Given the description of an element on the screen output the (x, y) to click on. 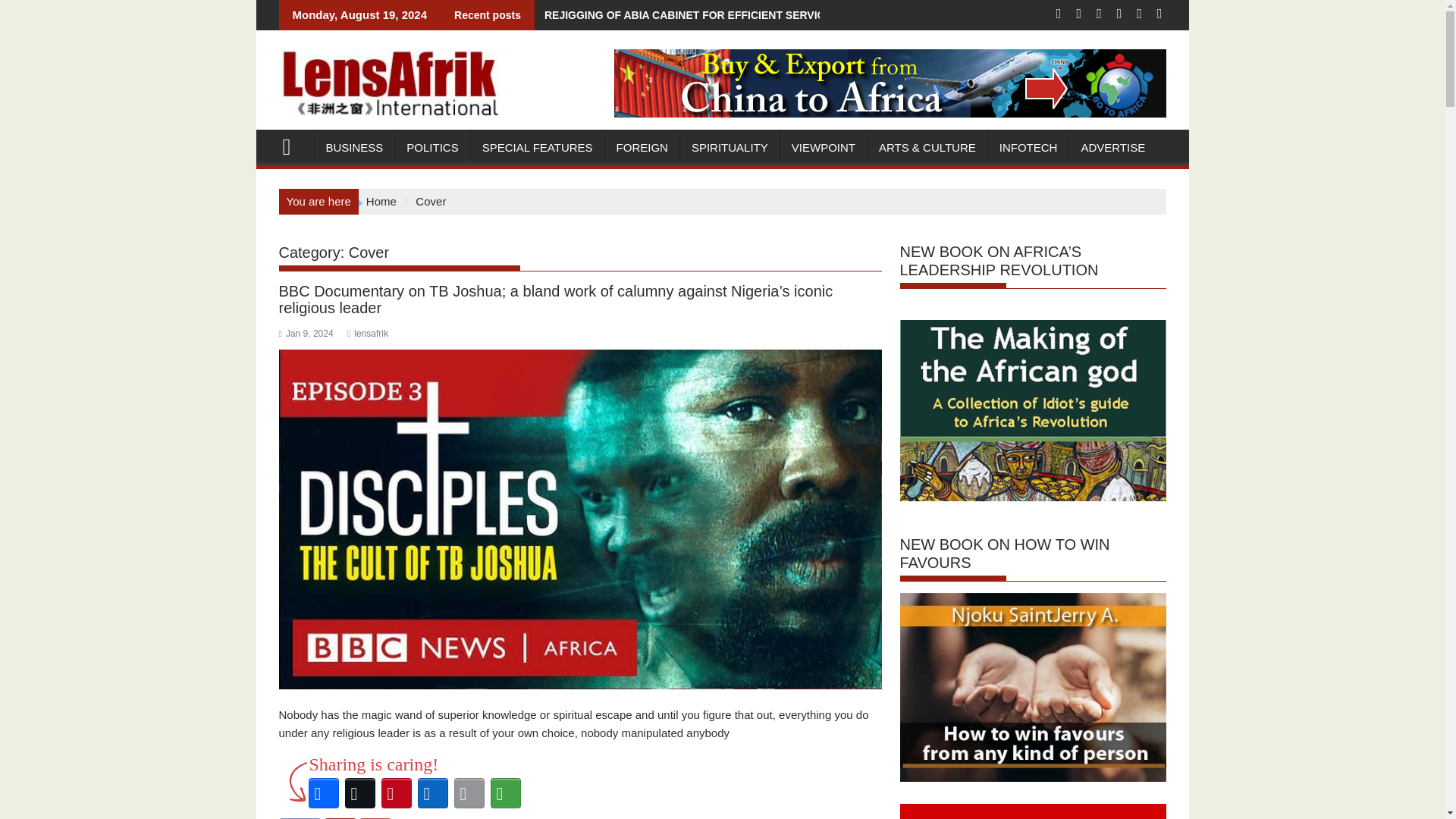
POLITICS (431, 147)
Facebook (322, 792)
REJIGGING OF ABIA CABINET FOR EFFICIENT SERVICE DELIVERY (710, 15)
SPIRITUALITY (728, 147)
BUSINESS (354, 147)
REJIGGING OF ABIA CABINET FOR EFFICIENT SERVICE DELIVERY (710, 15)
INFOTECH (1028, 147)
SPECIAL FEATURES (537, 147)
Home (381, 201)
FOREIGN (642, 147)
